Given the description of an element on the screen output the (x, y) to click on. 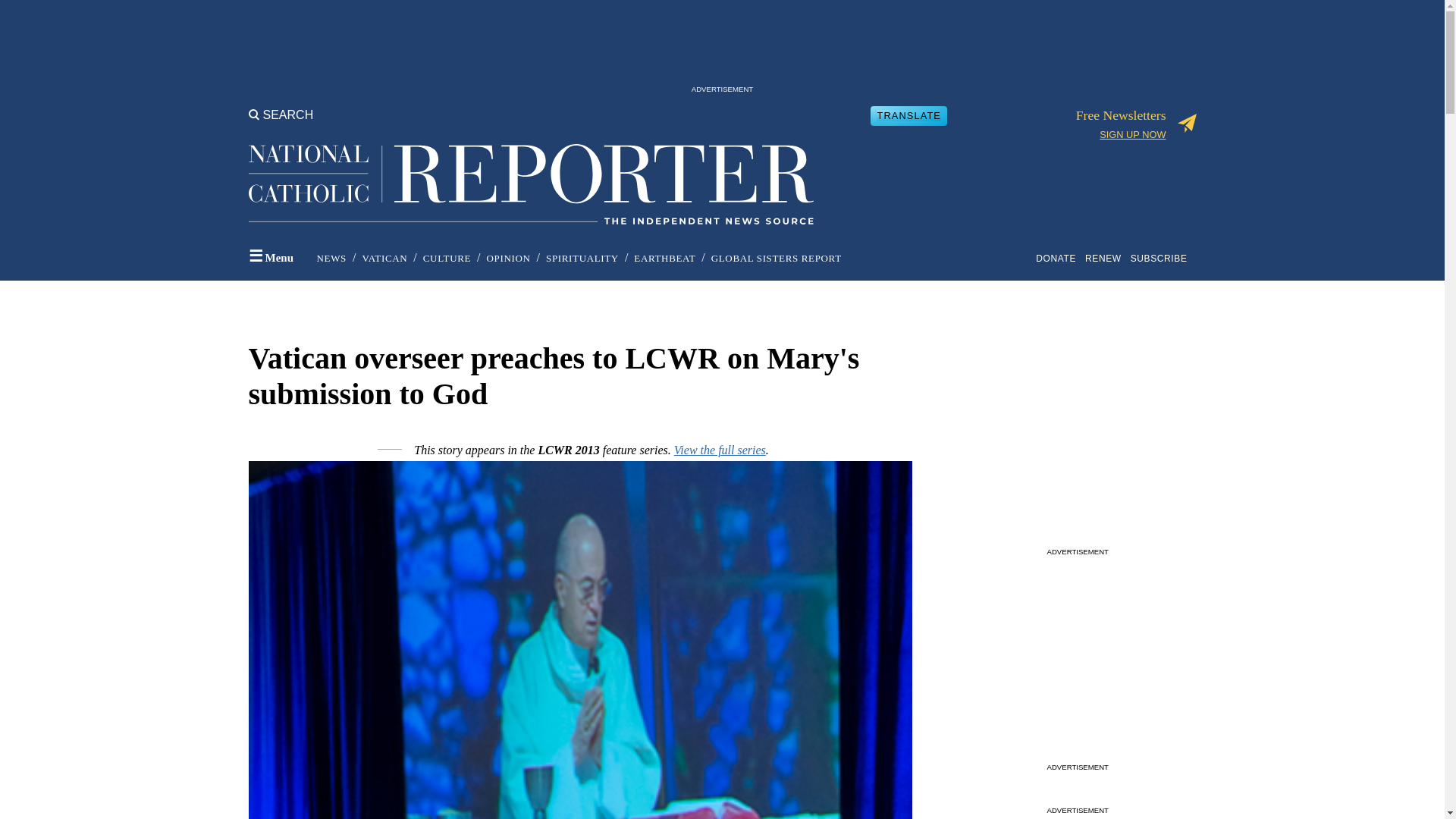
SUBSCRIBE (1162, 257)
NEWS (331, 257)
EARTHBEAT (664, 257)
SIGN UP NOW (1132, 134)
TRANSLATE (908, 115)
RENEW (1105, 257)
OPINION (508, 257)
VATICAN (384, 257)
3rd party ad content (1077, 663)
